Given the description of an element on the screen output the (x, y) to click on. 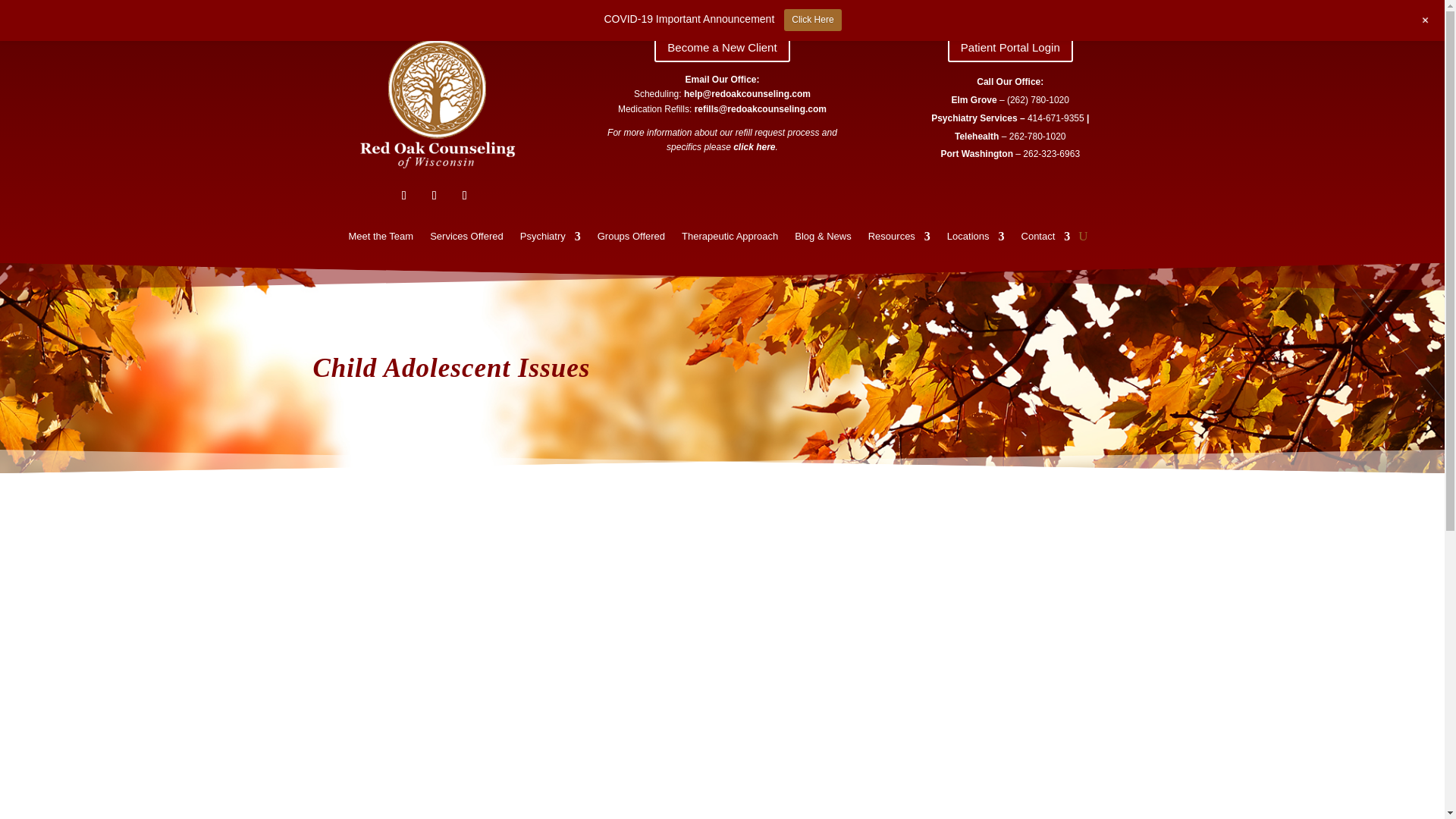
414-671-9355 (1055, 118)
Contact (1046, 239)
Meet the Team (380, 239)
Groups Offered (630, 239)
Resources (898, 239)
Locations (975, 239)
Become a New Client (721, 47)
262-780-1020 (1037, 136)
click here (753, 146)
Follow on X (434, 195)
